Given the description of an element on the screen output the (x, y) to click on. 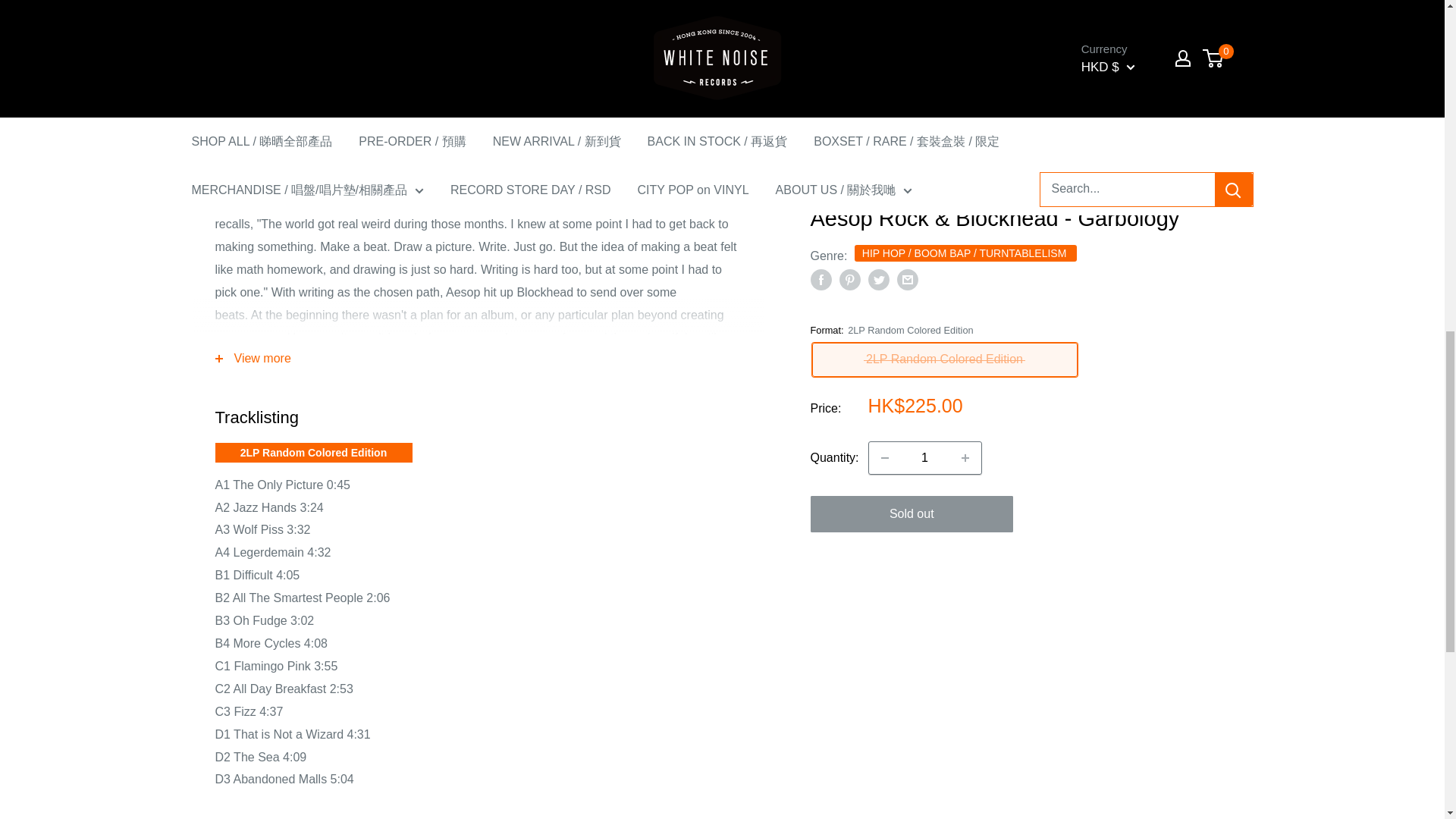
YouTube video player (1018, 21)
